Given the description of an element on the screen output the (x, y) to click on. 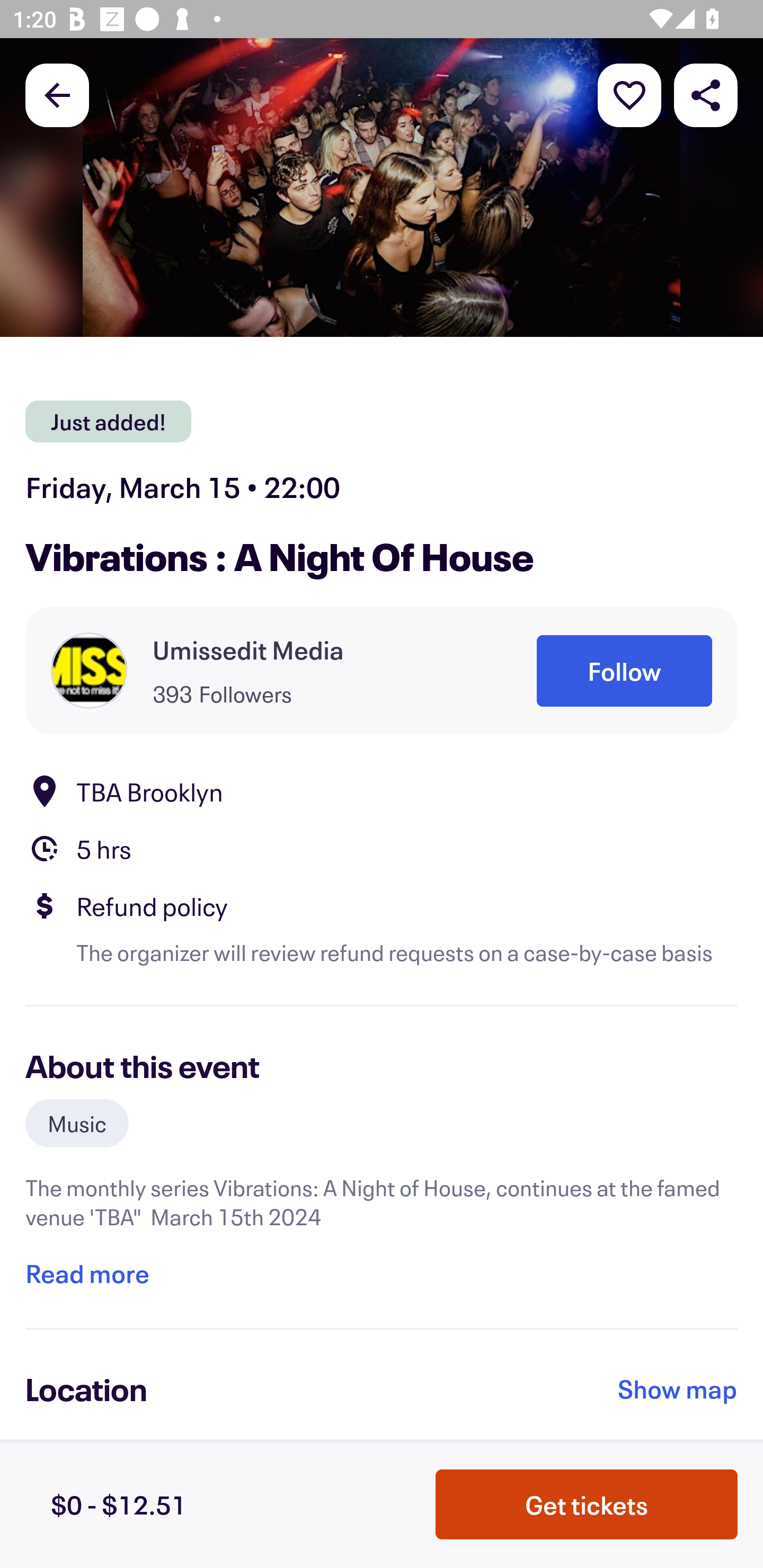
Back (57, 94)
More (629, 94)
Share (705, 94)
Just added! (108, 421)
Umissedit Media (248, 649)
Organizer profile picture (89, 669)
Follow (623, 670)
Location TBA Brooklyn (381, 790)
Read more (87, 1272)
Show map (677, 1388)
Get tickets (586, 1504)
